Given the description of an element on the screen output the (x, y) to click on. 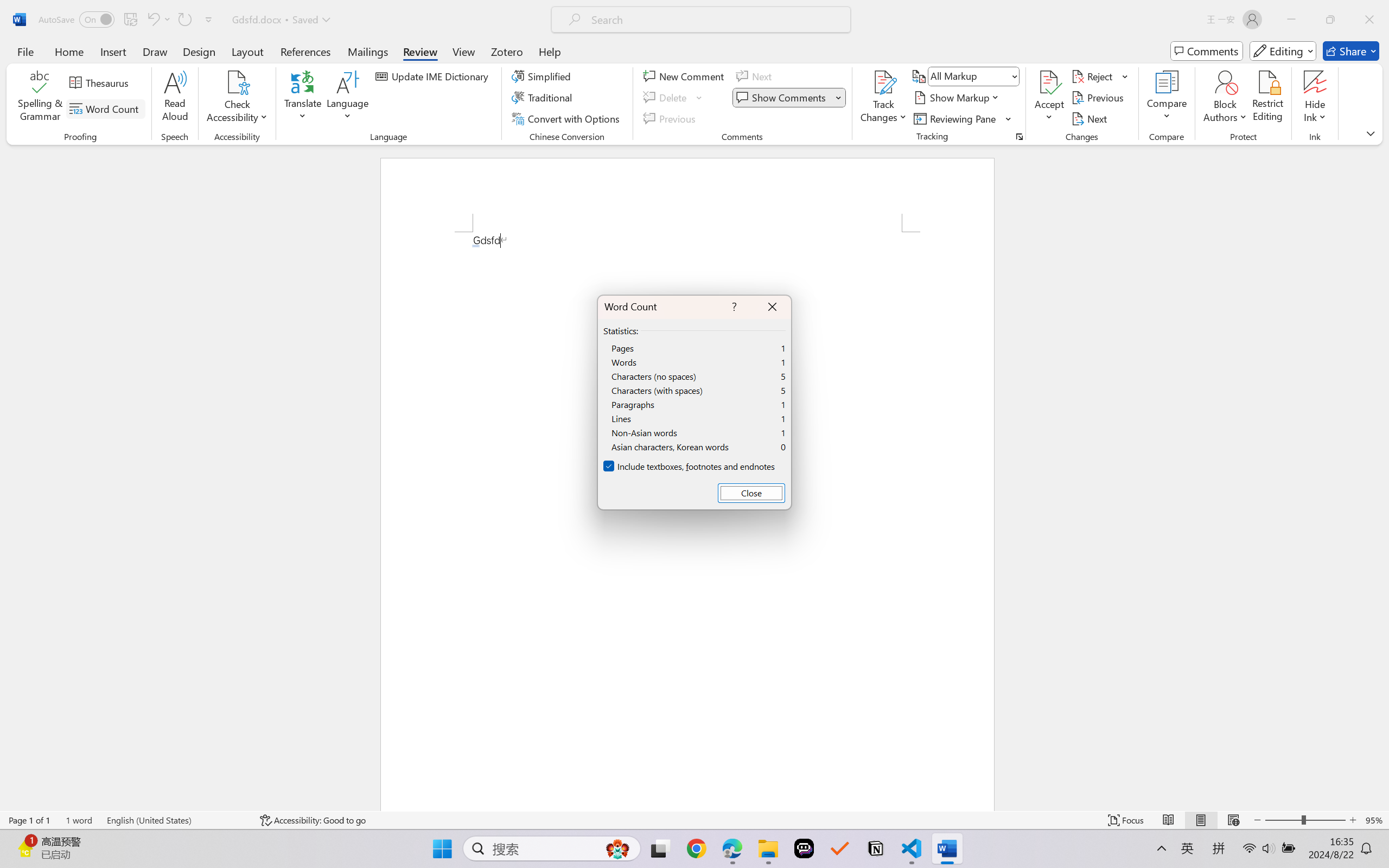
Change Tracking Options... (1019, 136)
Zoom 95% (1374, 819)
Show Comments (788, 97)
Accept (1049, 97)
Class: MsoCommandBar (694, 819)
